Given the description of an element on the screen output the (x, y) to click on. 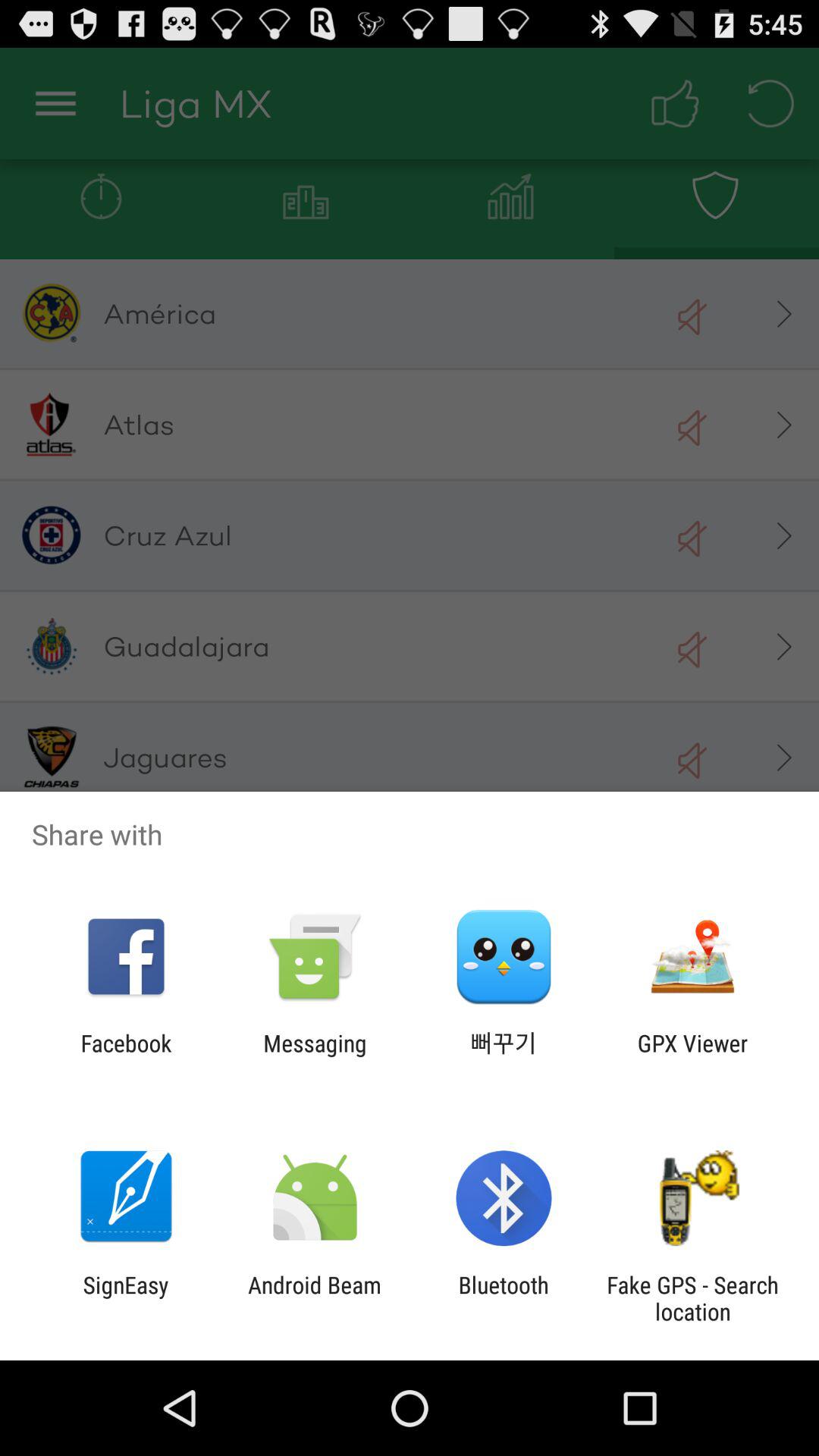
launch android beam app (314, 1298)
